Given the description of an element on the screen output the (x, y) to click on. 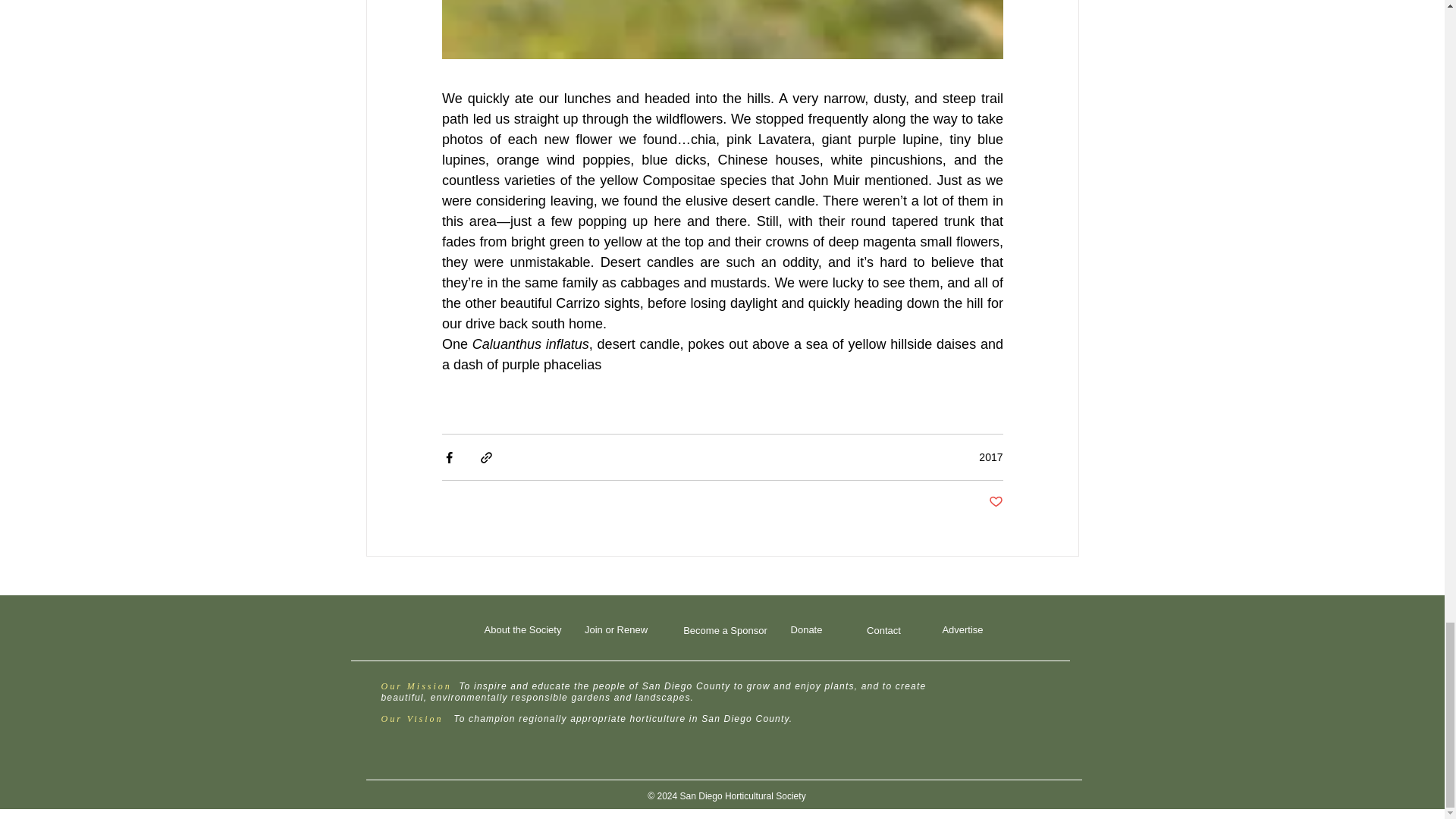
Donate (805, 630)
2017 (990, 457)
Advertise (961, 630)
Post not marked as liked (995, 502)
About the Society (522, 630)
Join or Renew (615, 630)
Contact (882, 630)
Become a Sponsor (724, 630)
